Given the description of an element on the screen output the (x, y) to click on. 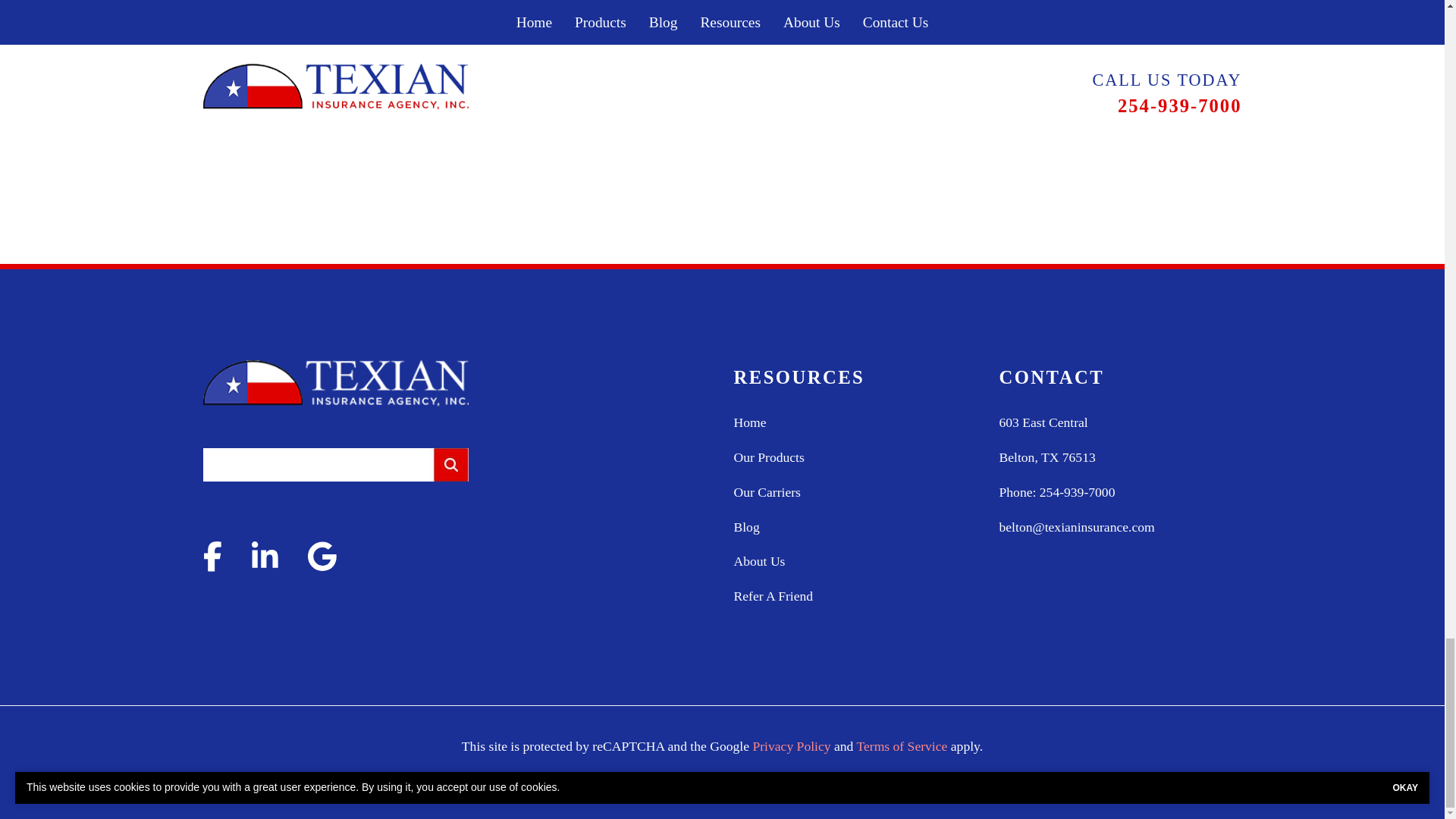
Zywave Websites (833, 777)
Search (450, 464)
